Given the description of an element on the screen output the (x, y) to click on. 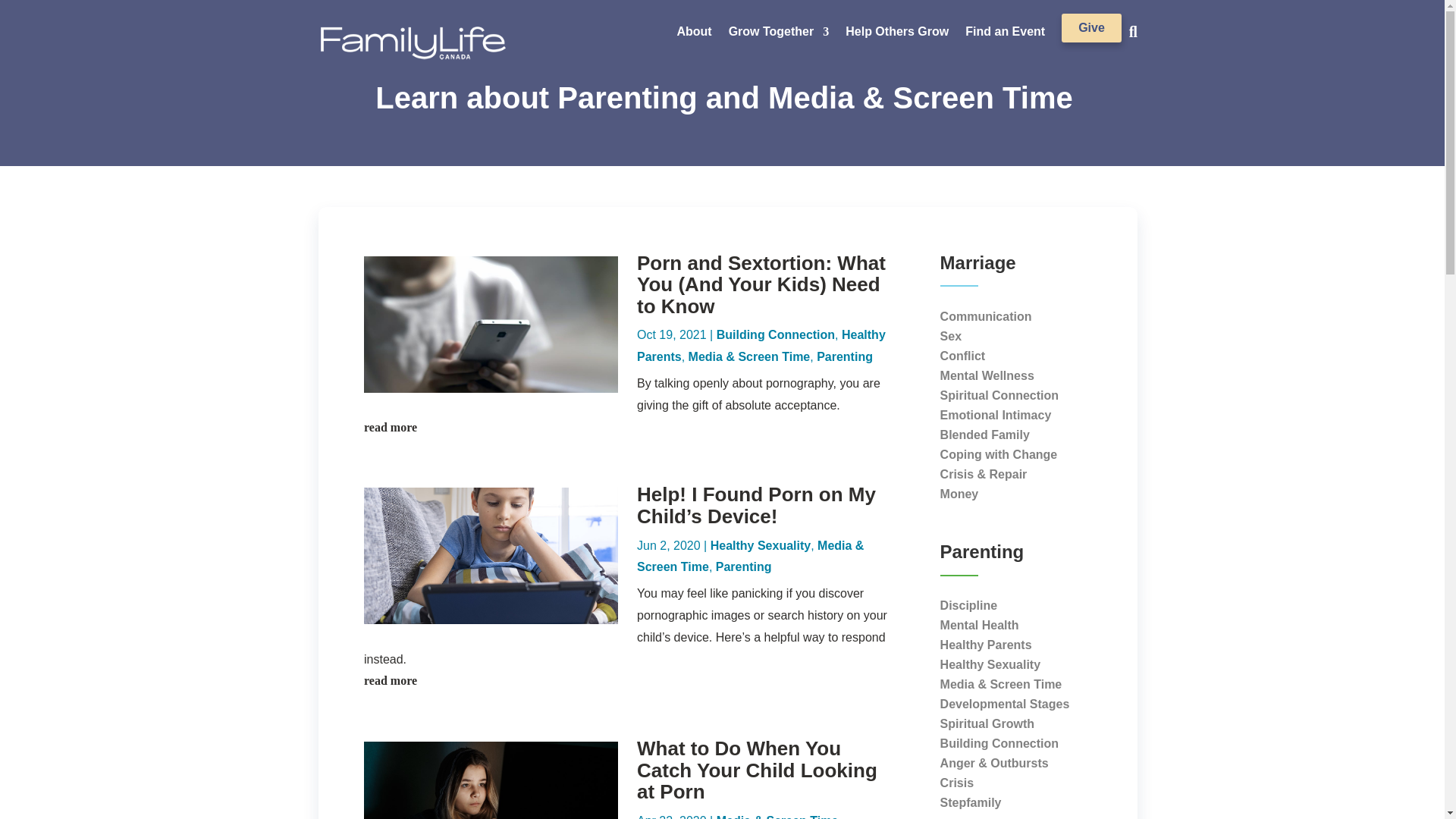
Help Others Grow (897, 34)
Parenting (844, 356)
Building Connection (775, 334)
Give (1091, 27)
Find an Event (1005, 34)
About (694, 34)
read more (631, 427)
FL-CANADA-WHITE-LOGO (413, 42)
Grow Together (779, 34)
Healthy Parents (761, 345)
